Given the description of an element on the screen output the (x, y) to click on. 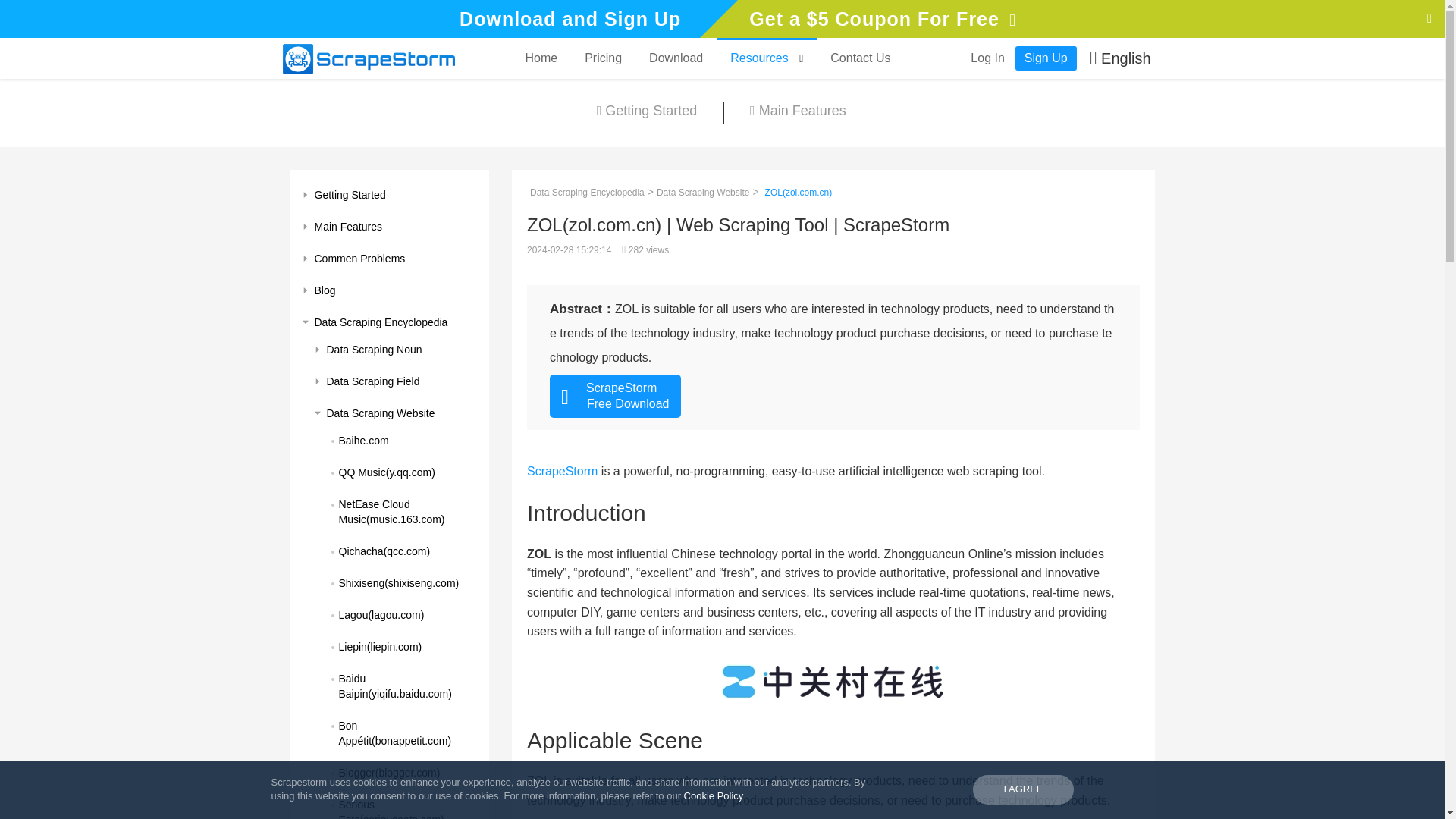
Log In (986, 57)
Getting Started (646, 112)
Main Features (389, 226)
Sign Up (1045, 57)
Resources (766, 58)
Download (675, 57)
Home (540, 57)
Pricing (602, 57)
Getting Started (389, 194)
Contact Us (860, 57)
